Given the description of an element on the screen output the (x, y) to click on. 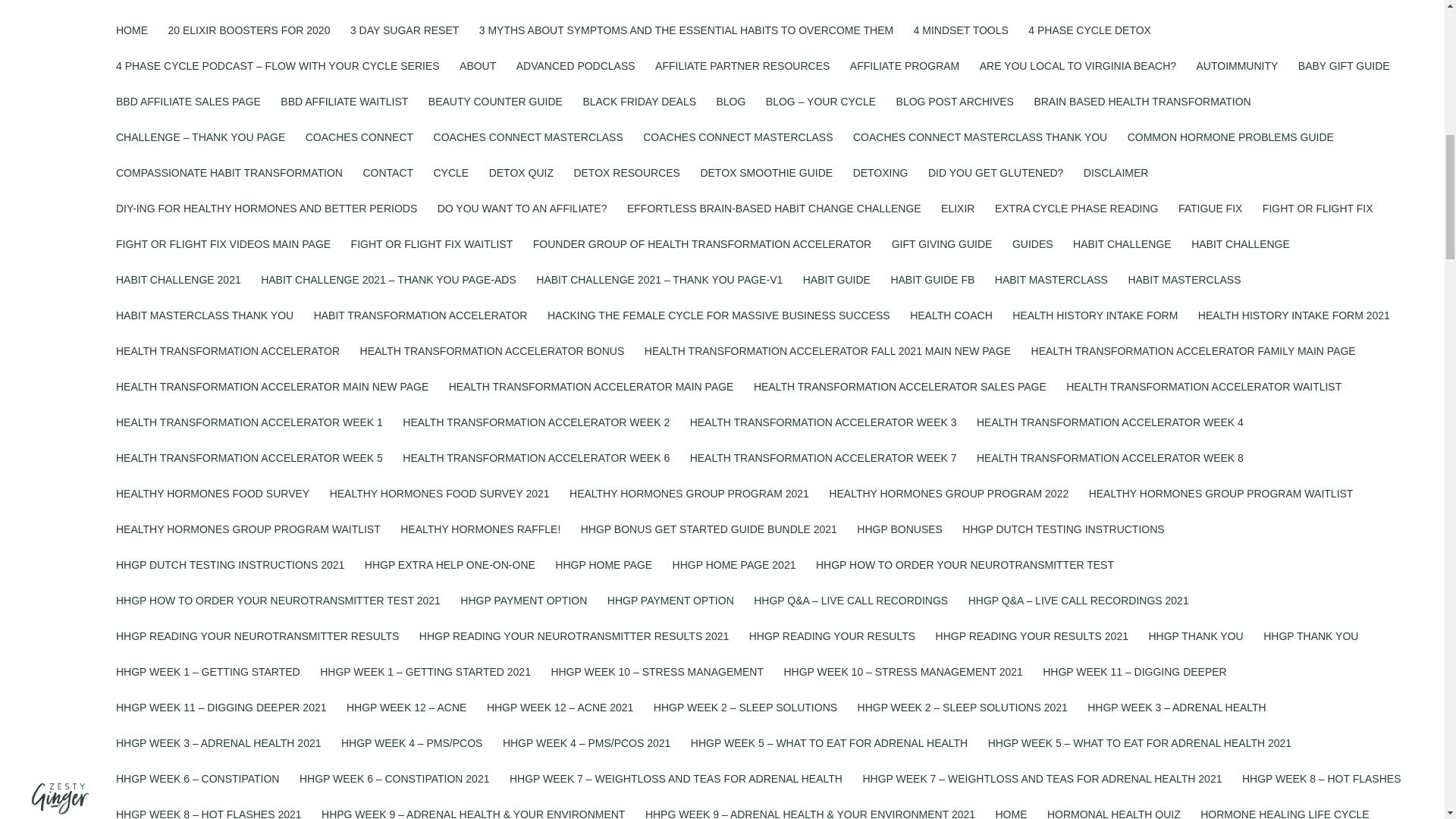
Search (1106, 764)
